Given the description of an element on the screen output the (x, y) to click on. 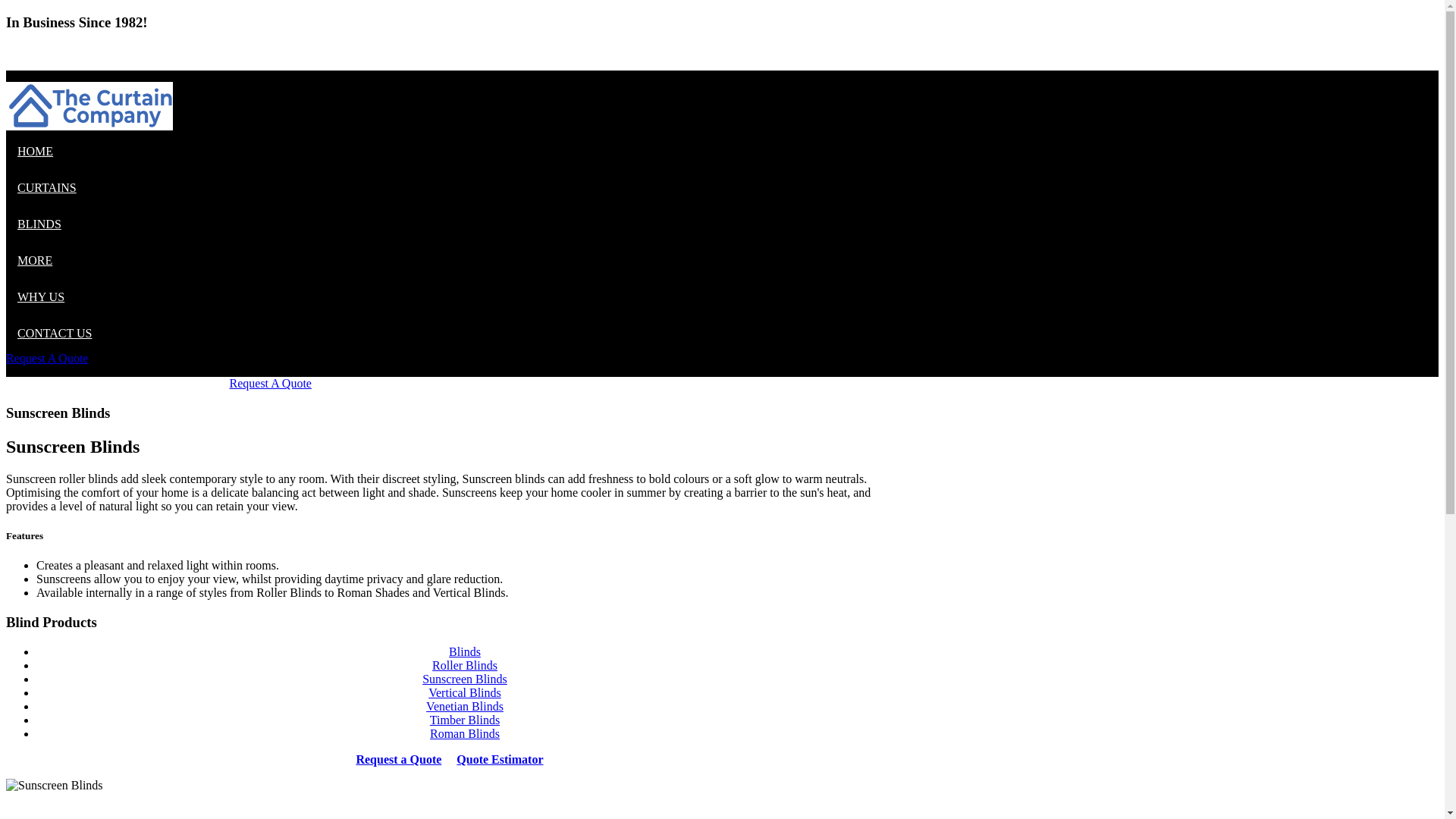
HOME Element type: text (35, 150)
BLINDS Element type: text (39, 223)
Roller Blinds Element type: text (464, 664)
Timber Blinds Element type: text (464, 719)
Vertical Blinds Element type: text (464, 692)
Request A Quote Element type: text (269, 382)
Quote Estimator Element type: text (499, 759)
Blinds Element type: text (464, 651)
MORE Element type: text (34, 260)
WHY US Element type: text (40, 296)
CURTAINS Element type: text (46, 187)
Request A Quote Element type: text (46, 357)
CONTACT US Element type: text (54, 332)
Sunscreen Blinds Element type: text (464, 678)
Venetian Blinds Element type: text (464, 705)
Roman Blinds Element type: text (464, 733)
Request a Quote Element type: text (398, 759)
